Given the description of an element on the screen output the (x, y) to click on. 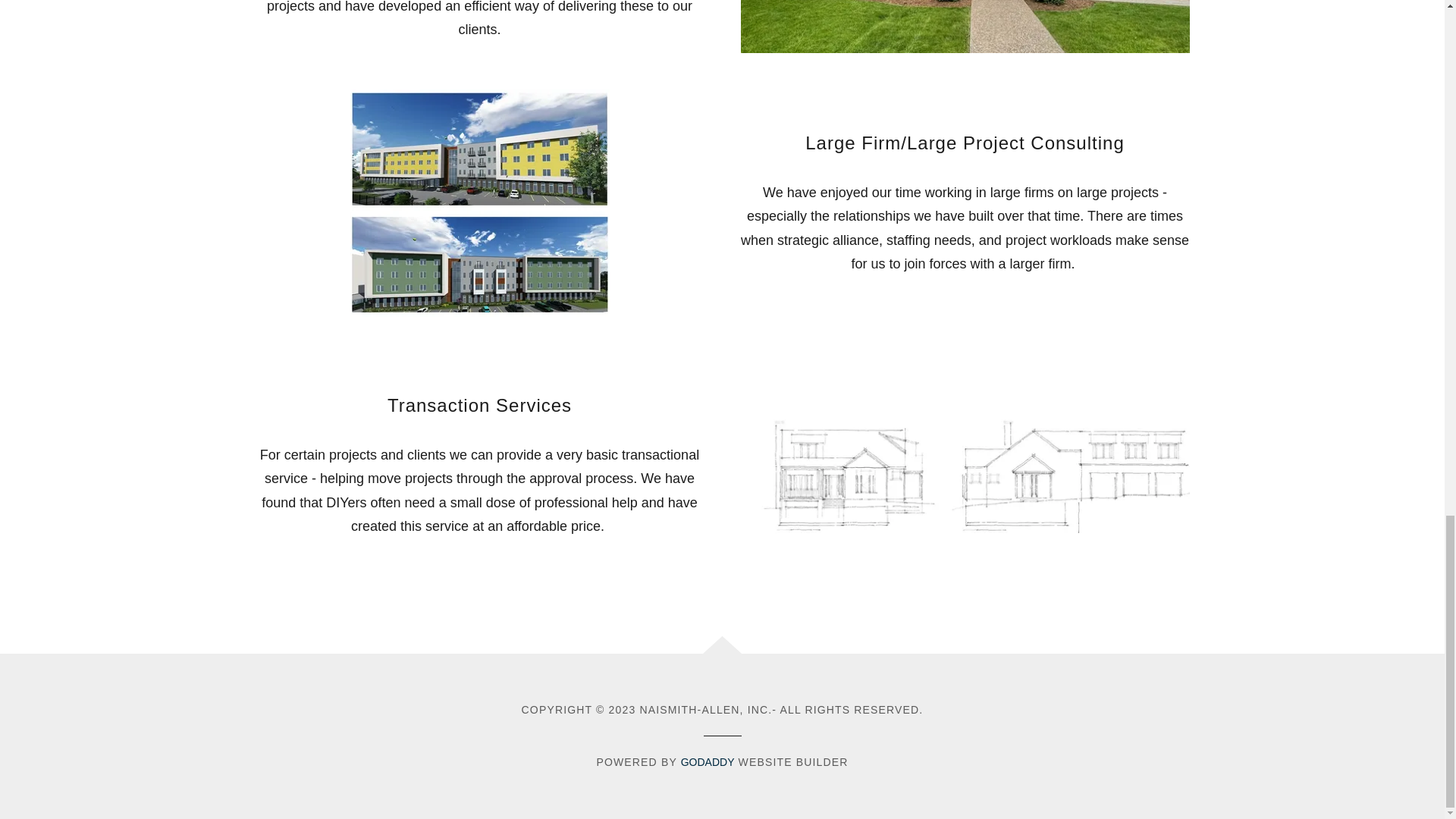
GODADDY (708, 761)
